Given the description of an element on the screen output the (x, y) to click on. 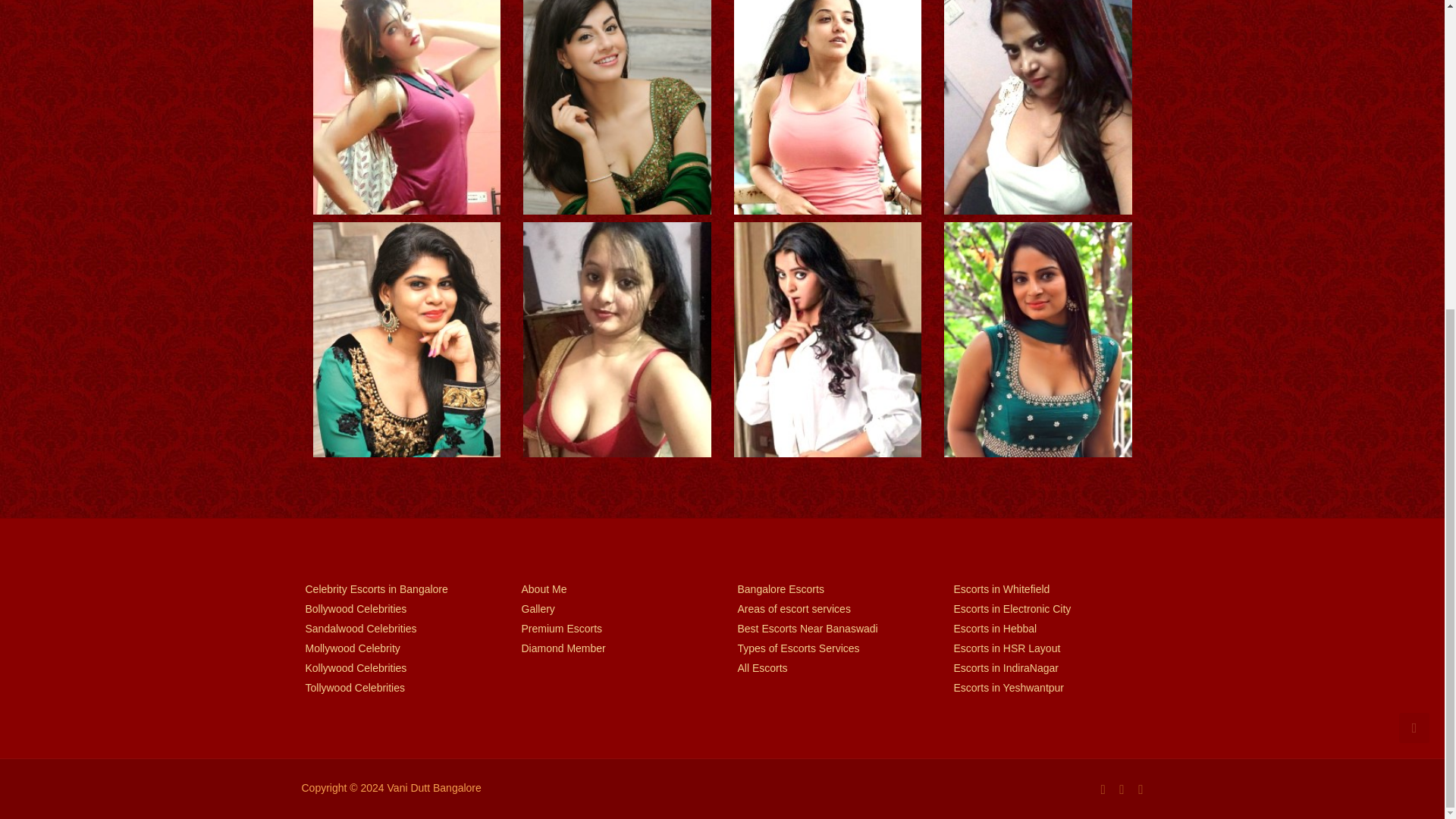
Bangalore Escorts (829, 589)
Diamond Member (614, 648)
Sandalwood Celebrities (397, 628)
Escorts in IndiraNagar (1046, 667)
Areas of escort services (829, 608)
Escorts in Electronic City (1046, 608)
Escorts in Yeshwantpur (1046, 687)
Go to Top (1414, 238)
Mollywood Celebrity (397, 648)
About Me (614, 589)
Best Escorts Near Banaswadi (829, 628)
Tollywood Celebrities (397, 687)
Escorts in HSR Layout (1046, 648)
Premium Escorts (614, 628)
All Escorts (829, 667)
